Given the description of an element on the screen output the (x, y) to click on. 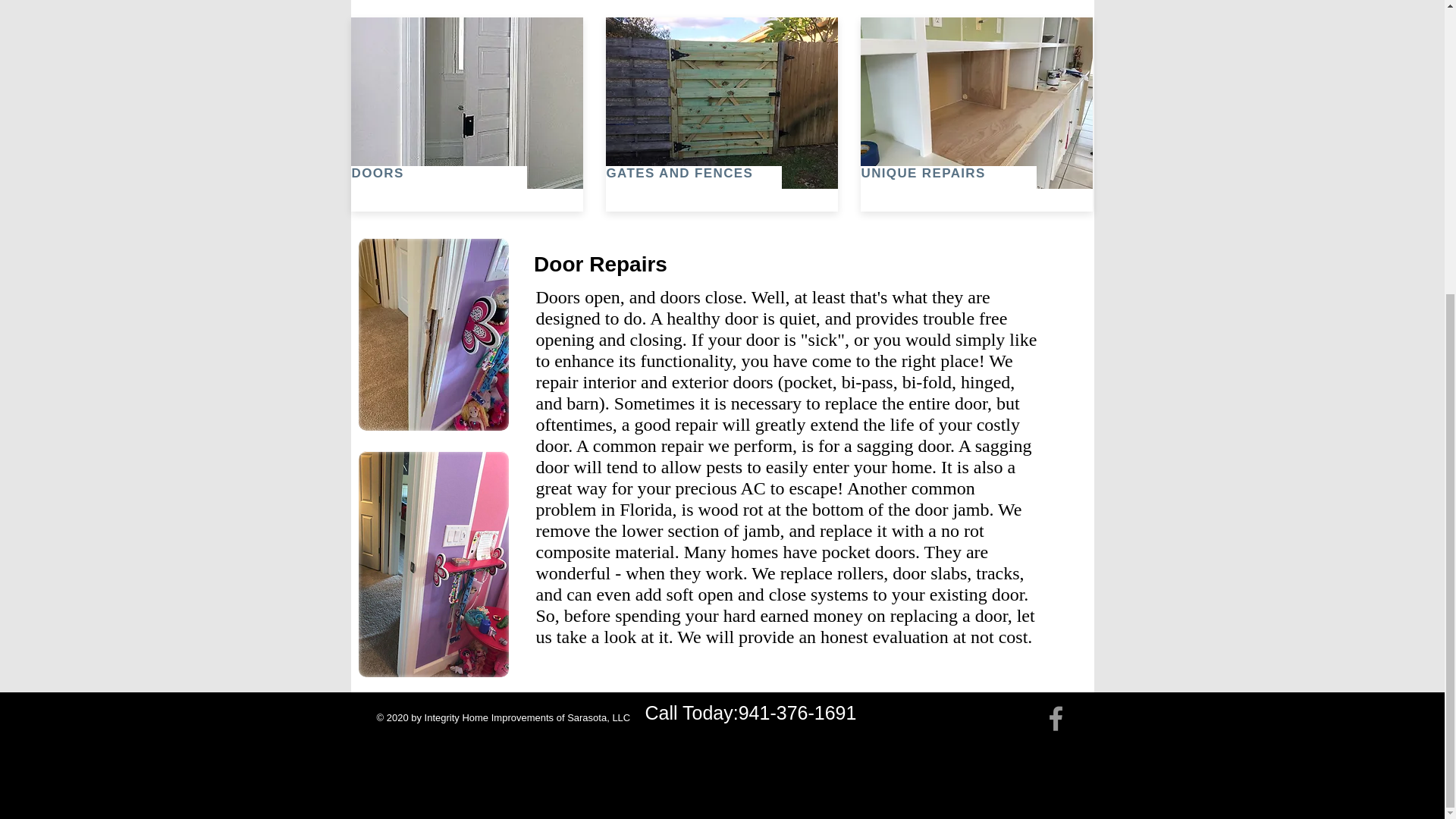
Door Repairs (599, 264)
